Given the description of an element on the screen output the (x, y) to click on. 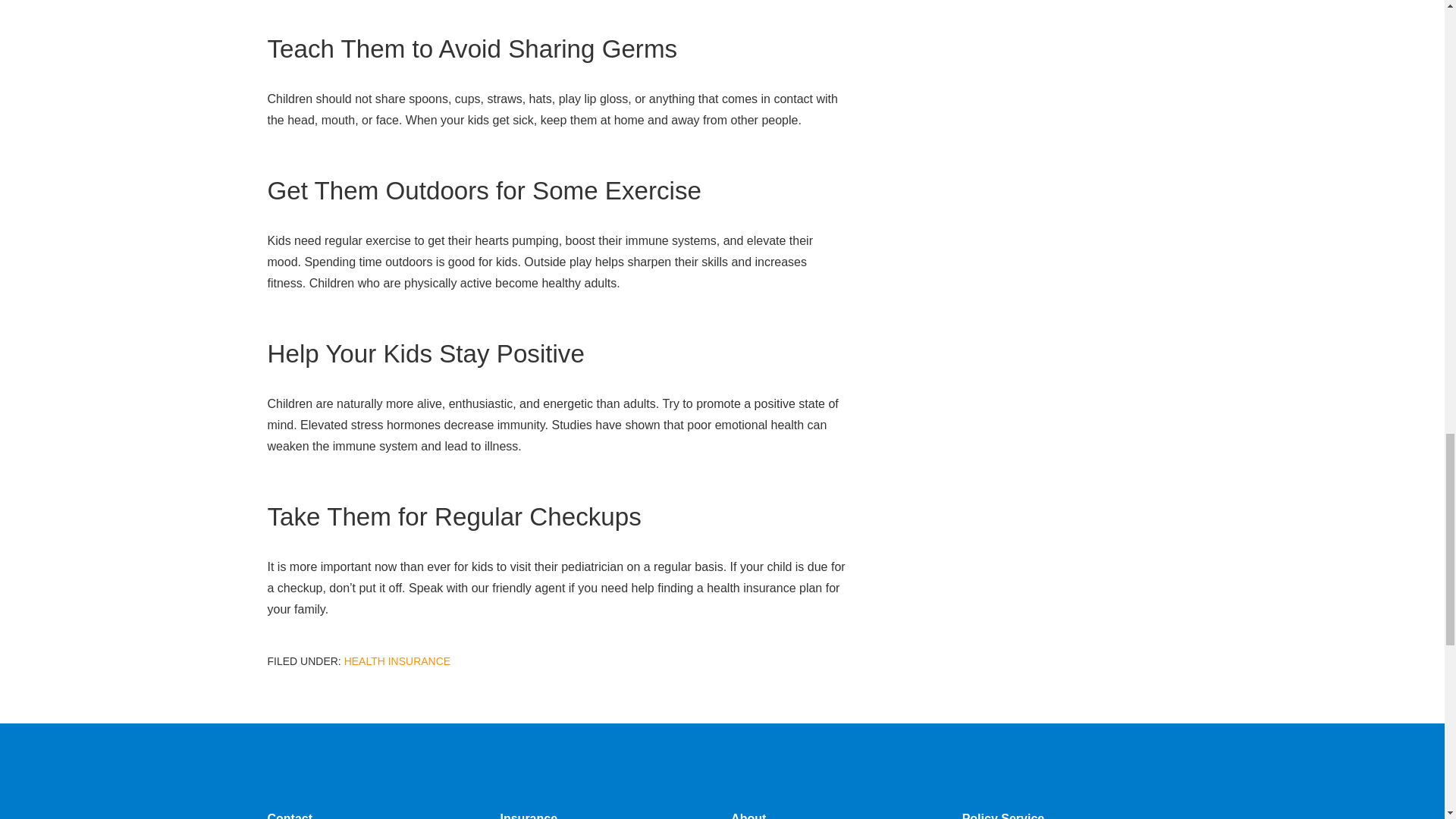
Health Insurance (397, 661)
